Given the description of an element on the screen output the (x, y) to click on. 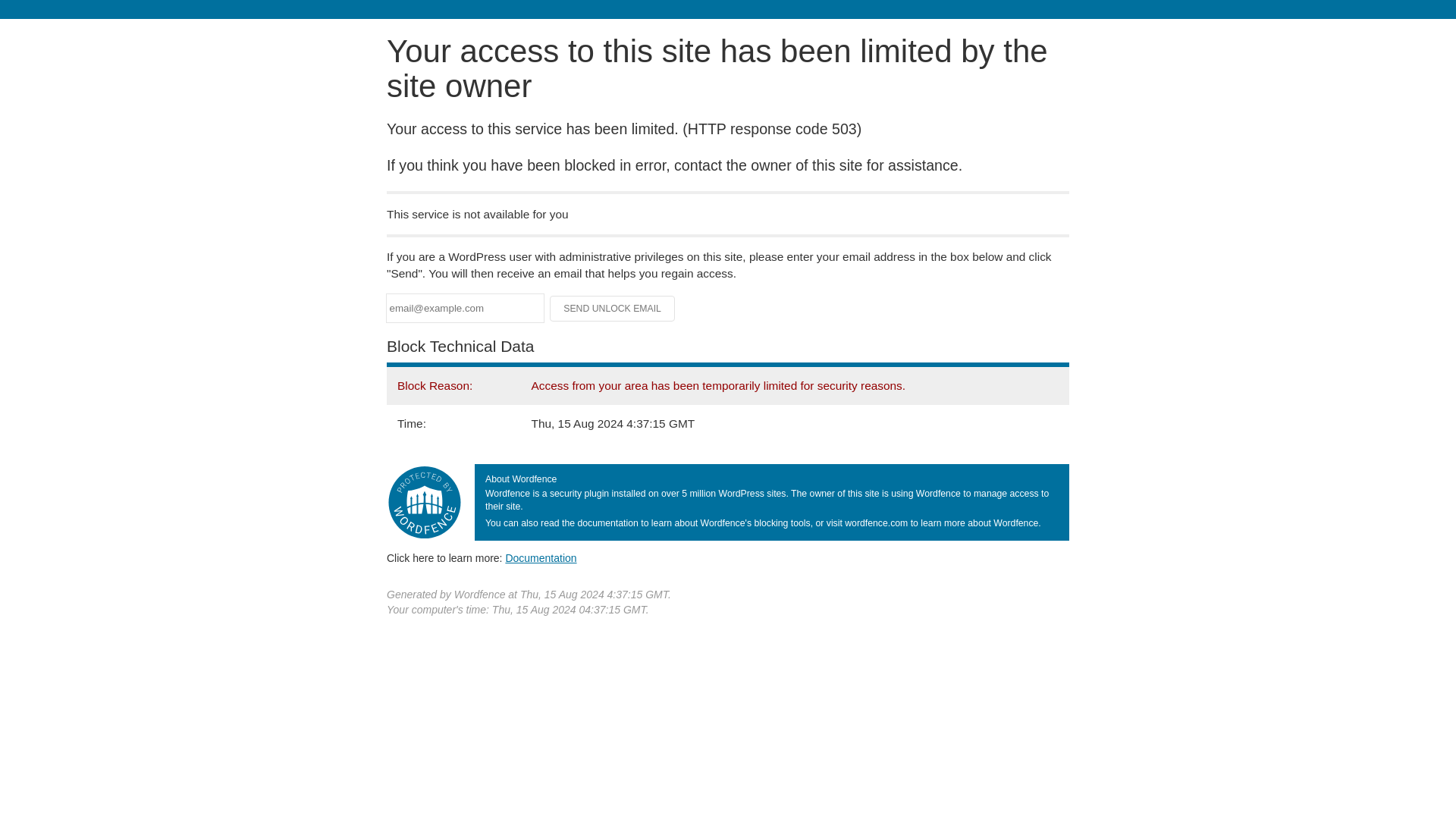
Send Unlock Email (612, 308)
Send Unlock Email (612, 308)
Documentation (540, 558)
